Given the description of an element on the screen output the (x, y) to click on. 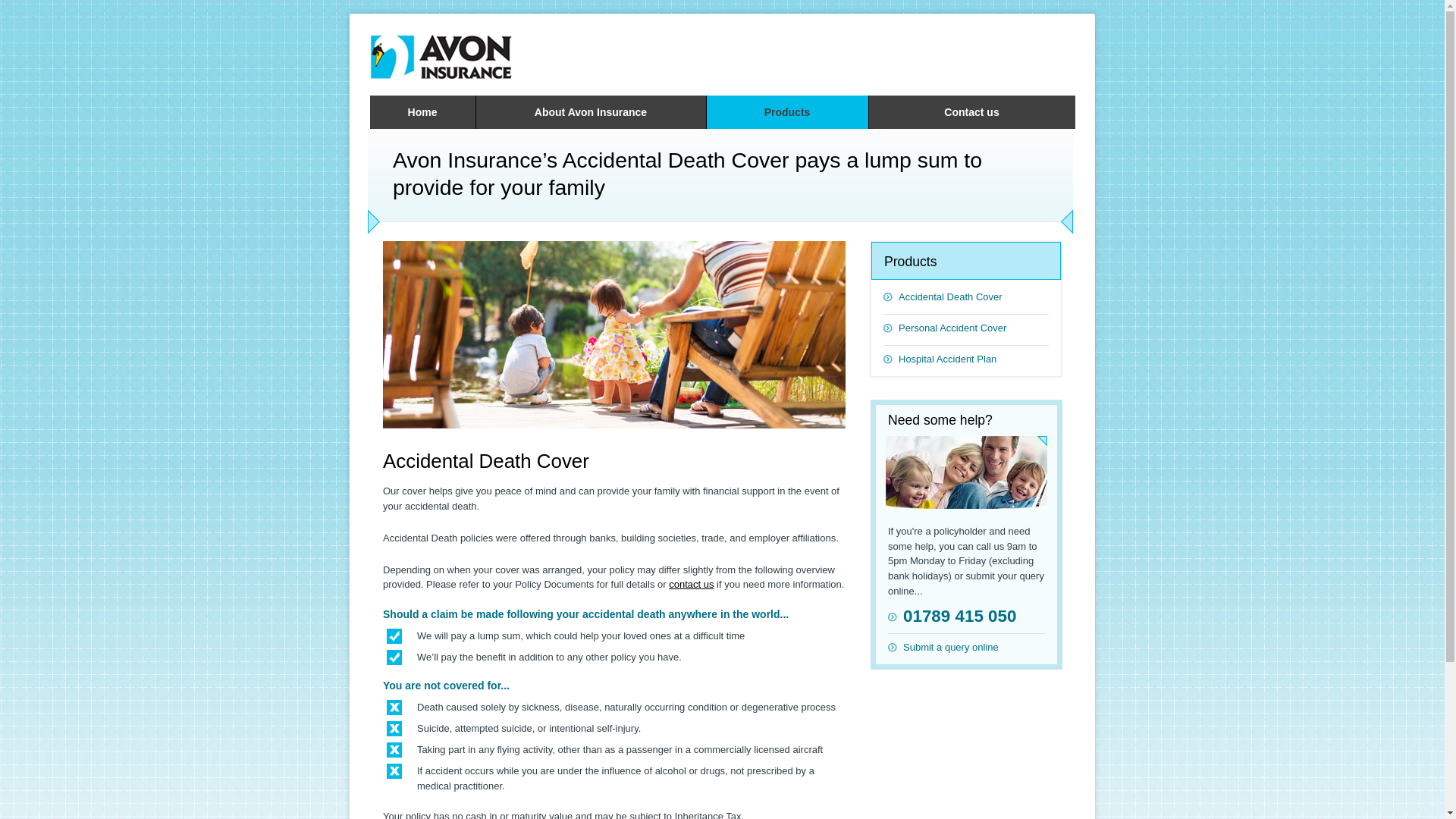
Accidental Death Cover (965, 292)
Accidental Death Cover (965, 292)
About Avon Insurance (591, 111)
Home (422, 111)
Personal Accident Cover (965, 323)
Submit a query online (966, 642)
contact us (690, 583)
Personal Accident Cover (965, 323)
Products (787, 111)
Products (787, 111)
